Given the description of an element on the screen output the (x, y) to click on. 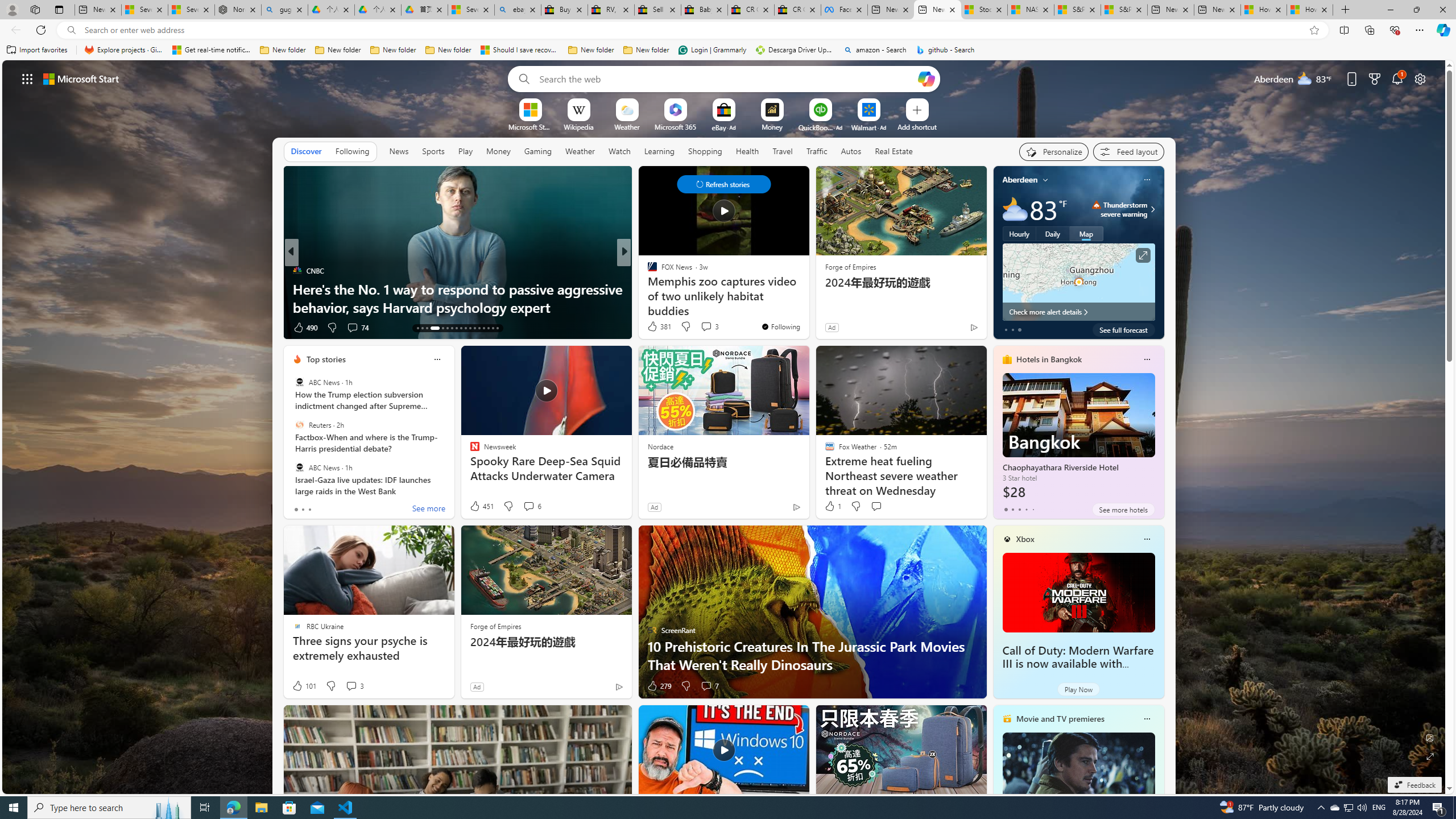
AutomationID: tab-21 (460, 328)
Reuters (299, 424)
Play Now (1078, 689)
Sell worldwide with eBay (656, 9)
Autos (851, 151)
New folder (646, 49)
Class: icon-img (1146, 718)
Click to see more information (1142, 255)
View comments 6 Comment (528, 505)
honeymallow (647, 288)
